Given the description of an element on the screen output the (x, y) to click on. 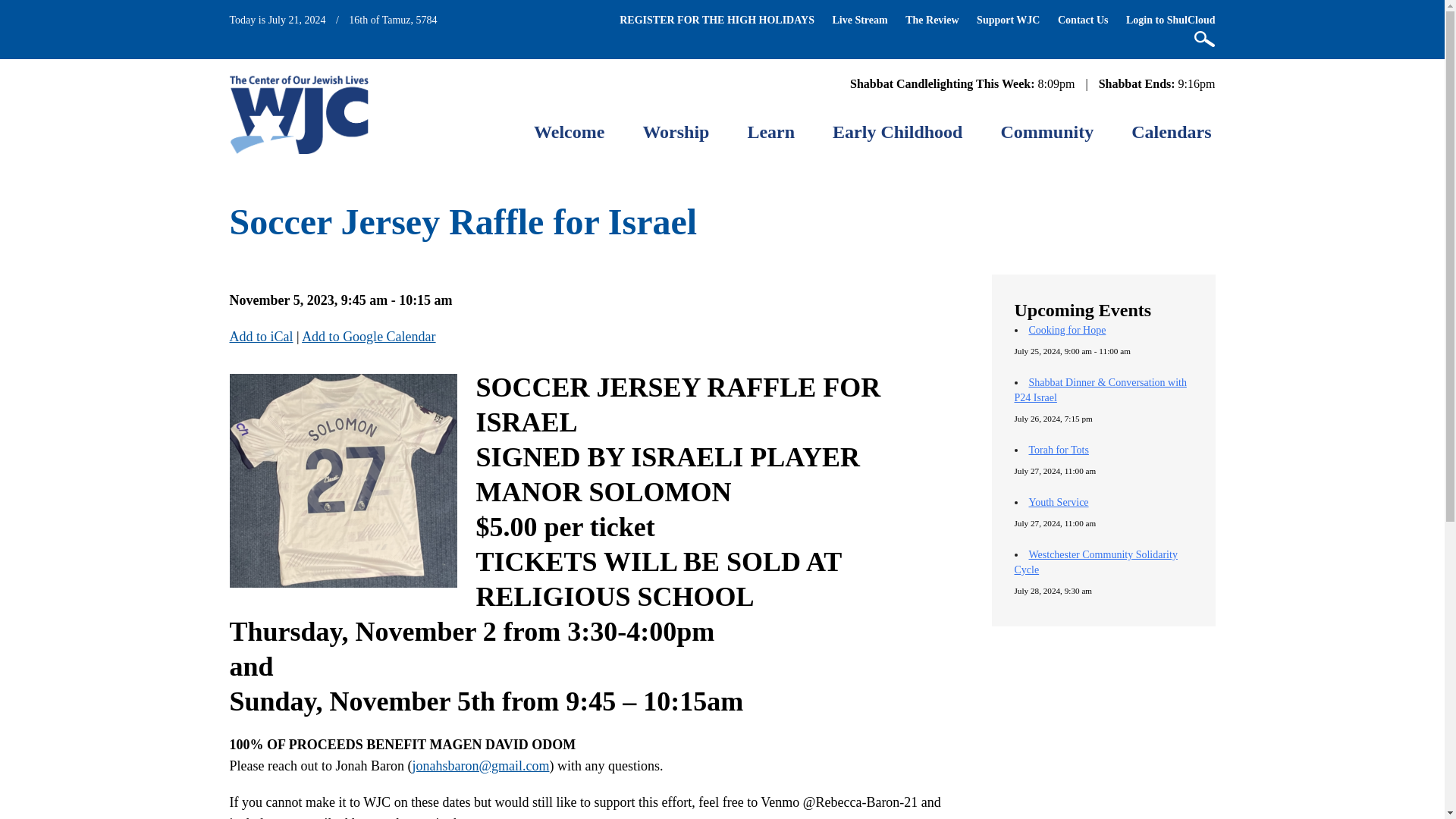
Learn (770, 131)
Login to ShulCloud (1170, 19)
Welcome (569, 131)
REGISTER FOR THE HIGH HOLIDAYS (716, 19)
Worship (675, 131)
Welcome (569, 131)
Contact Us (1083, 19)
The Review (931, 19)
Live Stream (858, 19)
Support WJC (1007, 19)
Return to the homepage (298, 113)
